Given the description of an element on the screen output the (x, y) to click on. 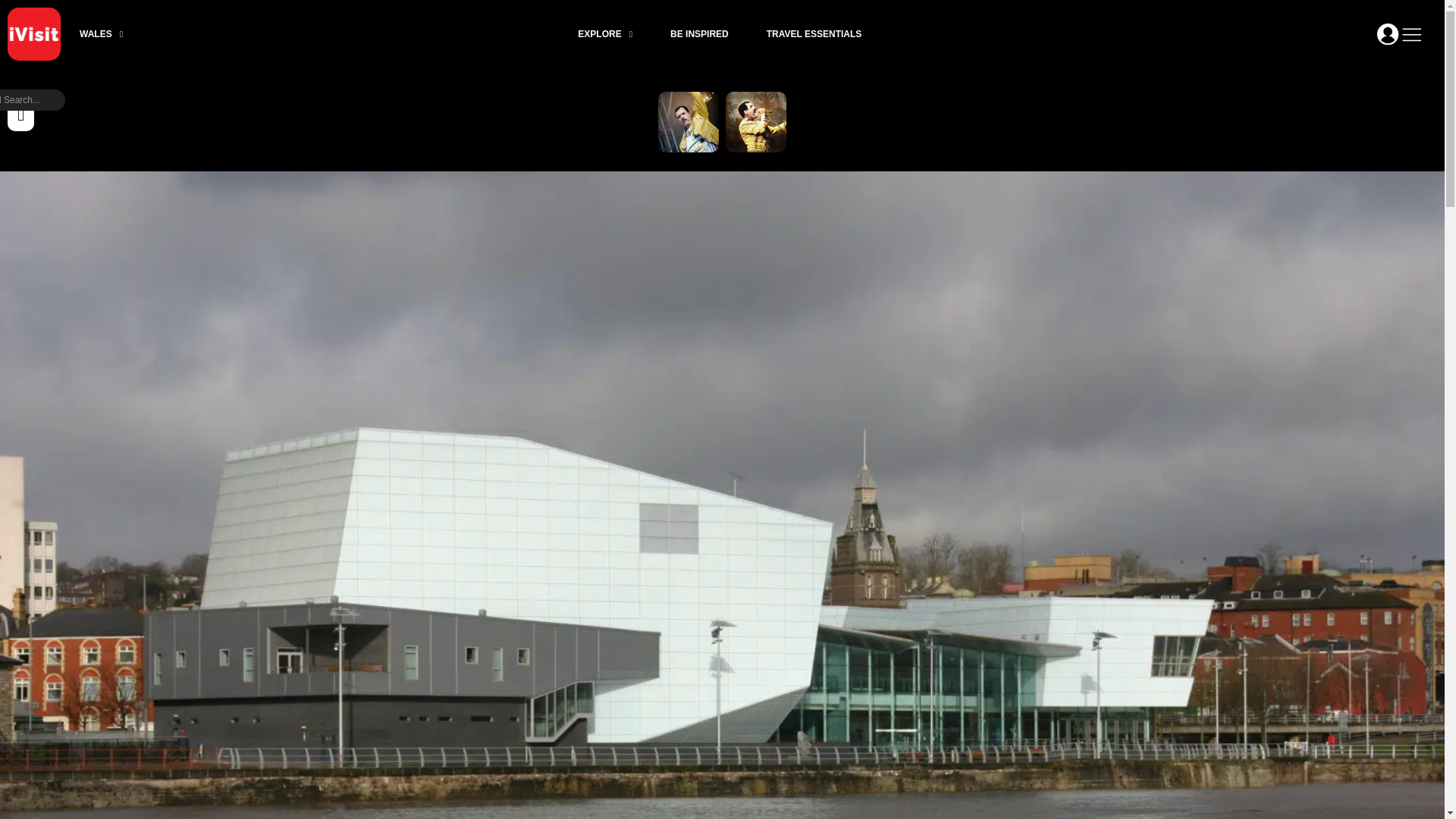
TRAVEL ESSENTIALS (814, 33)
WALES (101, 33)
EXPLORE (604, 33)
BE INSPIRED (699, 33)
